Given the description of an element on the screen output the (x, y) to click on. 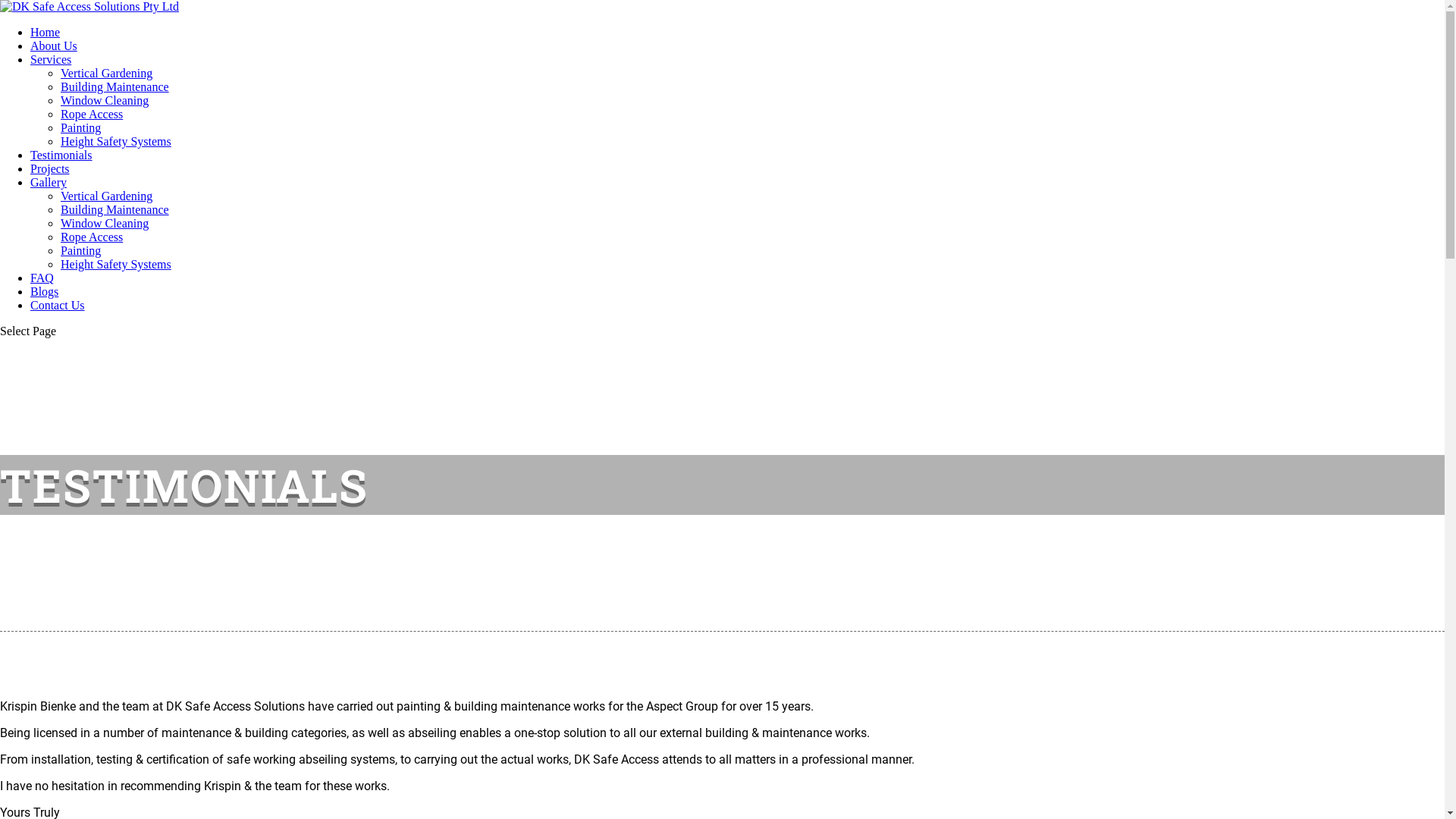
Home Element type: text (44, 31)
Testimonials Element type: text (61, 154)
Vertical Gardening Element type: text (106, 72)
Height Safety Systems Element type: text (115, 140)
Rope Access Element type: text (91, 236)
Height Safety Systems Element type: text (115, 263)
Building Maintenance Element type: text (114, 209)
Blogs Element type: text (44, 291)
FAQ Element type: text (41, 277)
Vertical Gardening Element type: text (106, 195)
About Us Element type: text (53, 45)
Window Cleaning Element type: text (104, 100)
Painting Element type: text (80, 250)
Contact Us Element type: text (57, 304)
Services Element type: text (50, 59)
Gallery Element type: text (48, 181)
Painting Element type: text (80, 127)
Rope Access Element type: text (91, 113)
Projects Element type: text (49, 168)
Building Maintenance Element type: text (114, 86)
Window Cleaning Element type: text (104, 222)
